Given the description of an element on the screen output the (x, y) to click on. 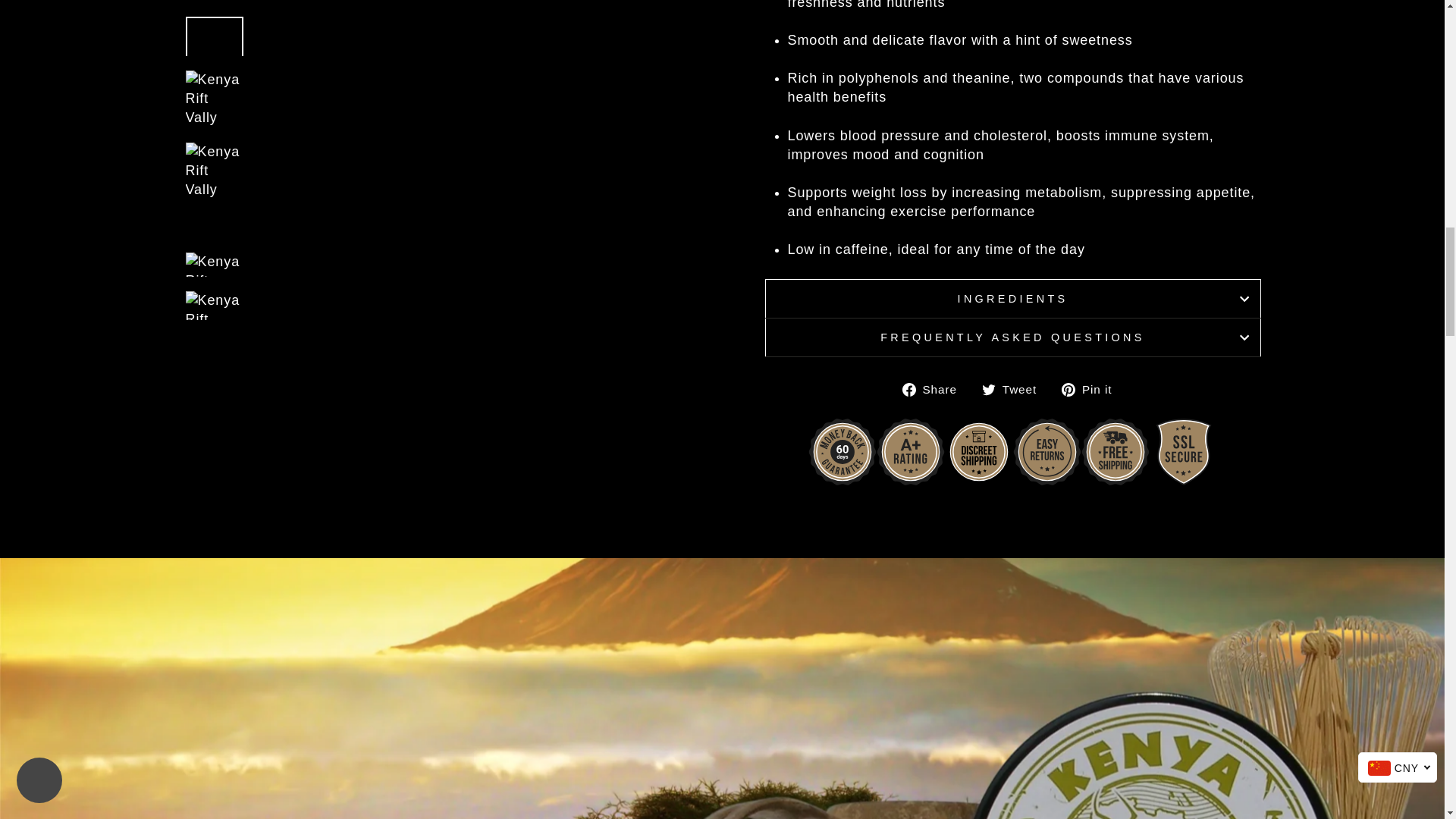
FREQUENTLY ASKED QUESTIONS (1012, 337)
Pin on Pinterest (1091, 389)
Share on Facebook (935, 389)
Tweet on Twitter (1014, 389)
INGREDIENTS (1012, 298)
